Given the description of an element on the screen output the (x, y) to click on. 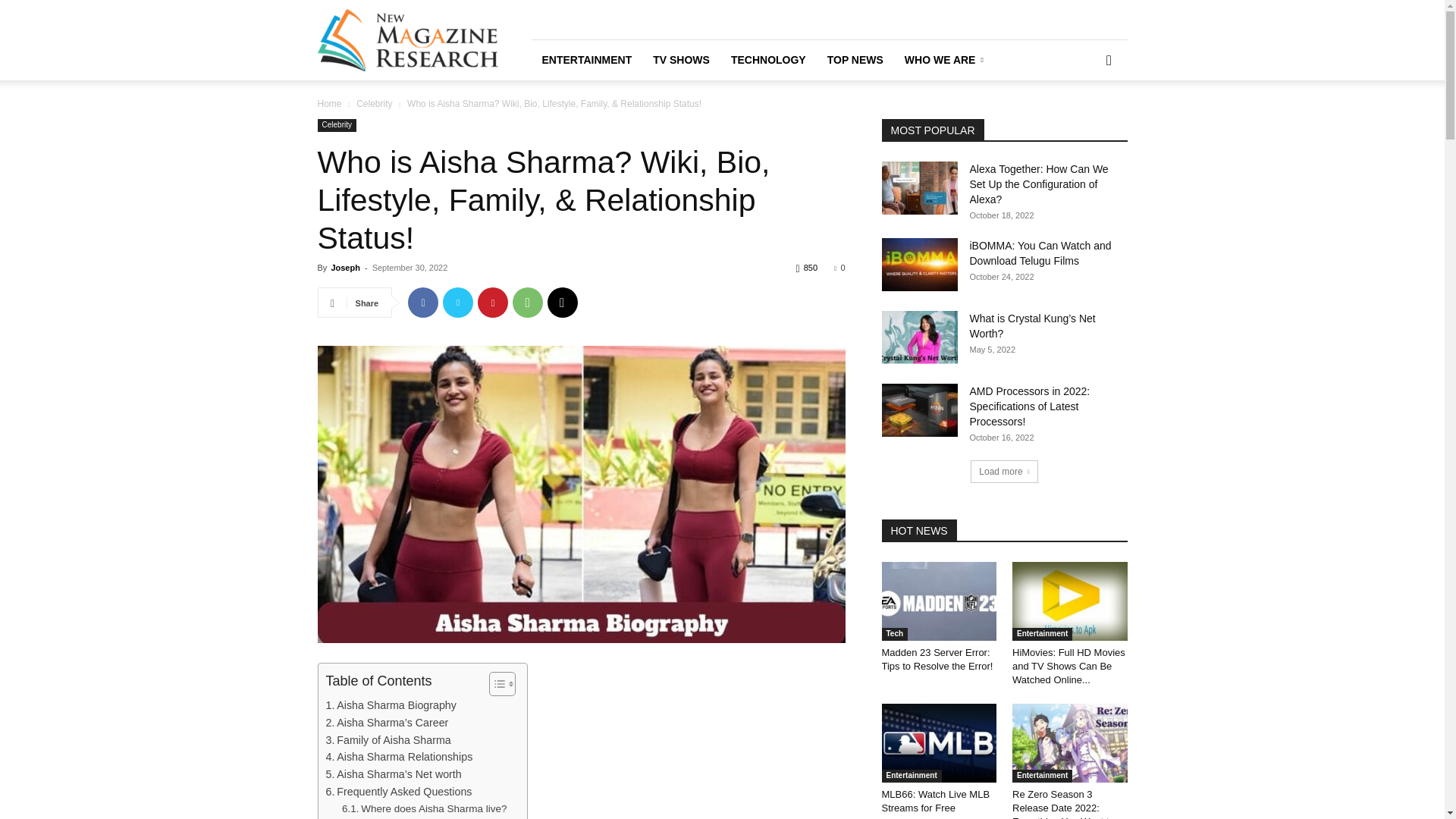
Twitter (457, 302)
View all posts in Celebrity (373, 103)
Pinterest (492, 302)
TECHNOLOGY (768, 60)
Copy URL (562, 302)
WHO WE ARE (945, 60)
WhatsApp (527, 302)
TV SHOWS (681, 60)
ENTERTAINMENT (586, 60)
Home (328, 103)
TOP NEWS (854, 60)
Facebook (422, 302)
Search (1085, 122)
